Given the description of an element on the screen output the (x, y) to click on. 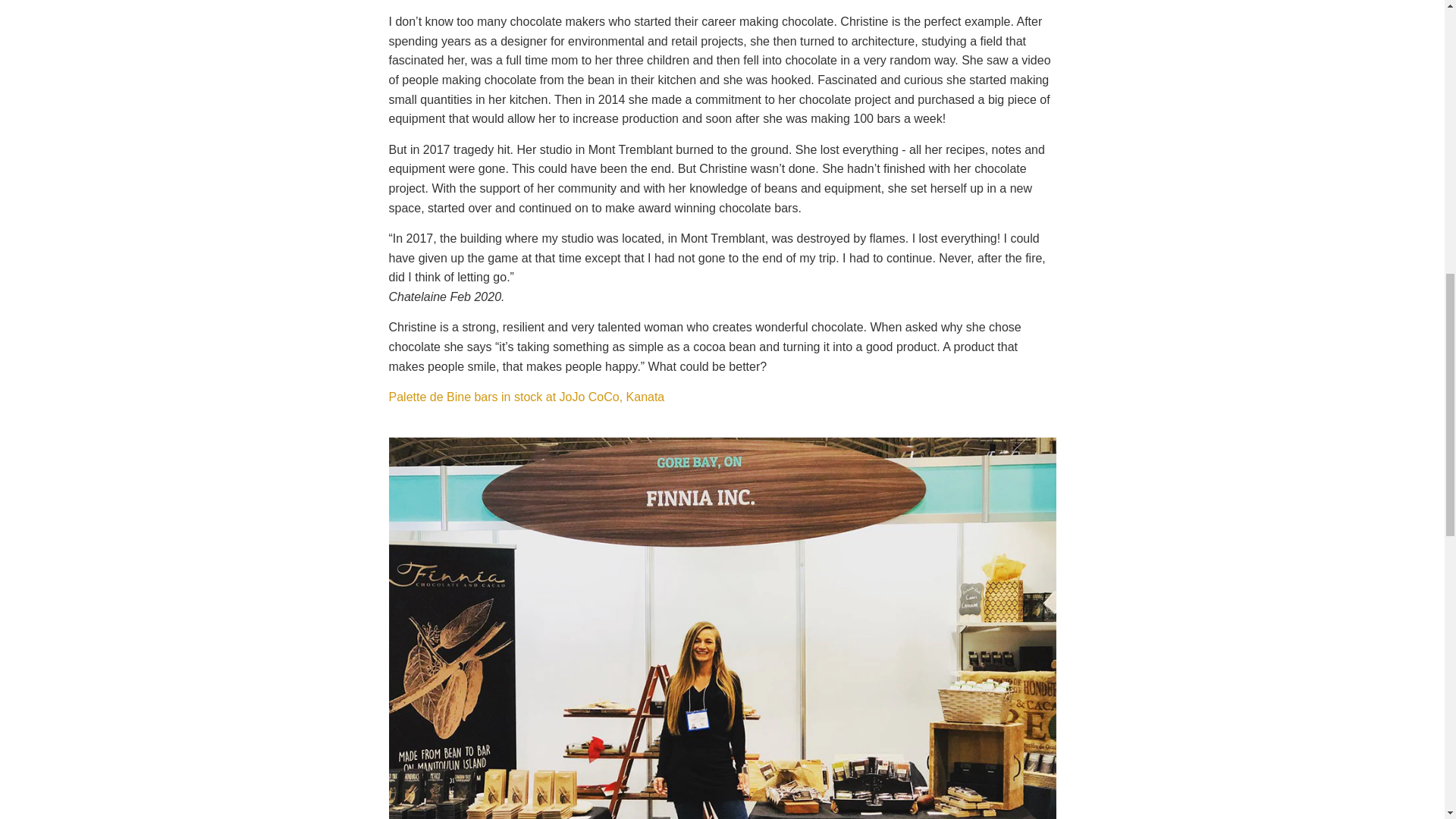
link to Palette de Bine bars in stock at JoJo CoCo, Kanata (525, 396)
